Given the description of an element on the screen output the (x, y) to click on. 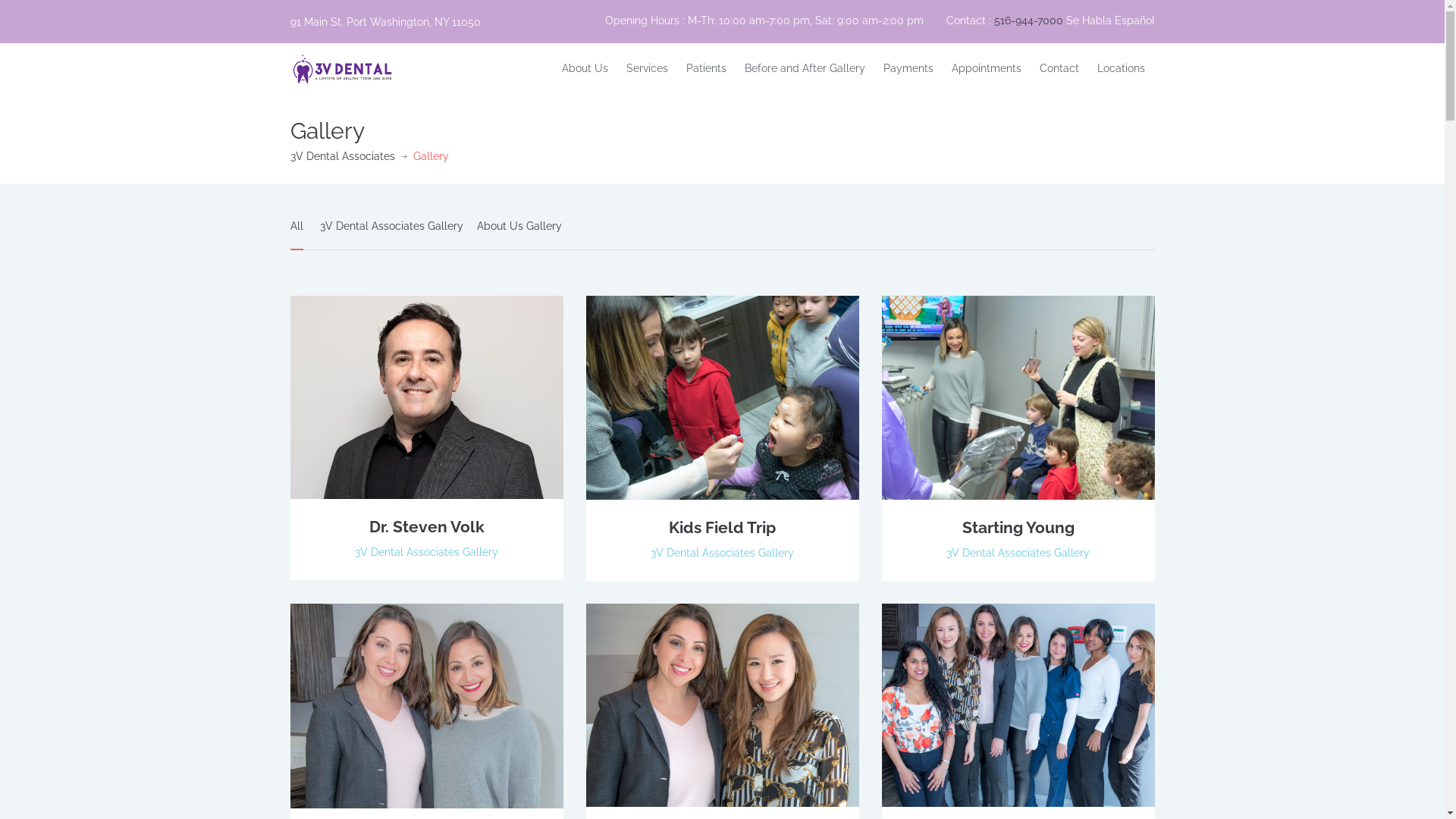
About Us Element type: text (584, 67)
3V Dental Associates Element type: text (341, 155)
91 Main St. Port Washington, NY 11050 Element type: text (419, 20)
Starting Young Element type: text (1017, 526)
Dr. Steven Volk Element type: text (425, 526)
All Element type: text (295, 233)
Patients Element type: text (706, 67)
Kids Field Trip Element type: text (721, 526)
Services Element type: text (647, 67)
Locations Element type: text (1121, 67)
Appointments Element type: text (986, 67)
About Us Gallery Element type: text (518, 233)
3V Dental Associates Gallery Element type: text (391, 233)
3V Dental Associates Gallery Element type: text (426, 552)
Contact Element type: text (1059, 67)
Before and After Gallery Element type: text (804, 67)
3V Dental Associates Gallery Element type: text (721, 552)
516-944-7000 Element type: text (1027, 20)
3V Dental Associates Gallery Element type: text (1017, 552)
Payments Element type: text (908, 67)
